Given the description of an element on the screen output the (x, y) to click on. 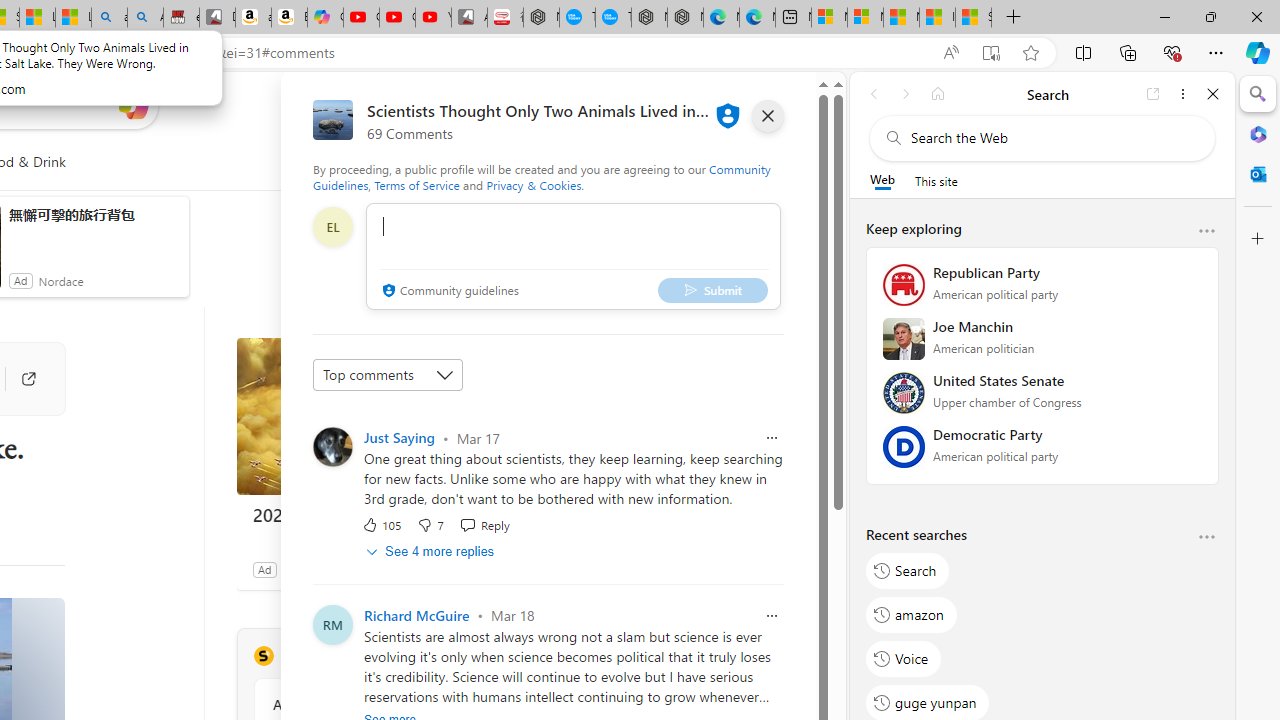
Privacy & Cookies (534, 184)
Browser essentials (1171, 52)
Sort comments by (388, 374)
Community Guidelines (541, 176)
Microsoft Start (901, 17)
Ad Choice (514, 569)
Dislike (430, 524)
ScienceAlert (263, 655)
More options (1206, 538)
All Cubot phones (469, 17)
